Given the description of an element on the screen output the (x, y) to click on. 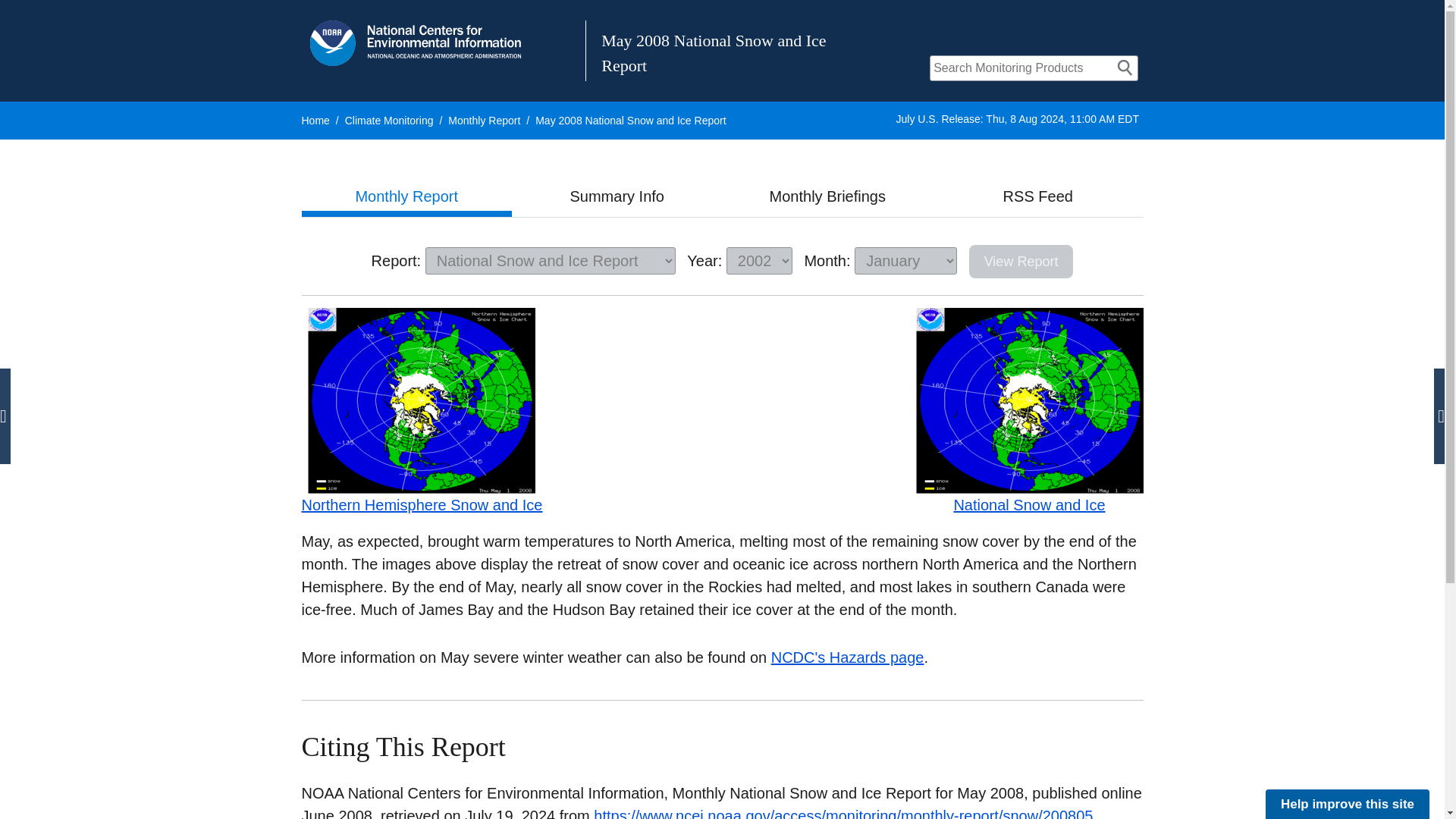
Monthly Report (406, 196)
July U.S. Release: Thu, 8 Aug 2024, 11:00 AM EDT (1017, 119)
May 2008 National Snow and Ice Report (630, 120)
Link to NCEI's Homepage (415, 43)
Monthly Briefings (827, 196)
RSS Feed (1037, 196)
NCDC's Hazards page (847, 657)
Help improve this site (1347, 804)
Home (315, 120)
View Report (1021, 260)
View Report (1021, 260)
Northern Hemisphere Snow and Ice (422, 452)
NCEI Home (315, 120)
Climate Monitoring Home (389, 120)
